Given the description of an element on the screen output the (x, y) to click on. 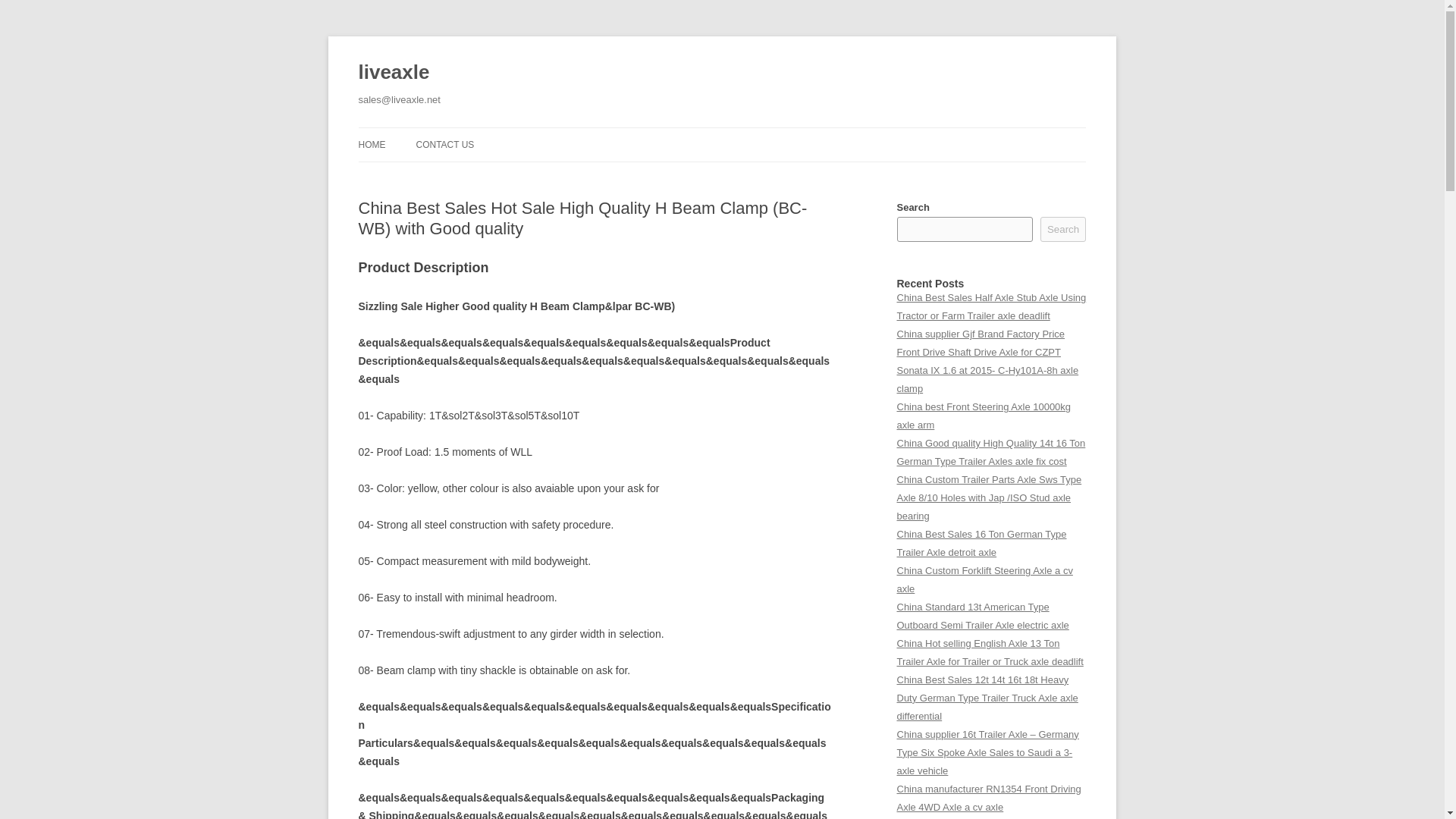
CONTACT US (444, 144)
China Custom Forklift Steering Axle a cv axle (983, 579)
Search (1063, 229)
liveaxle (393, 72)
liveaxle (393, 72)
China best Front Steering Axle 10000kg axle arm (983, 415)
